Given the description of an element on the screen output the (x, y) to click on. 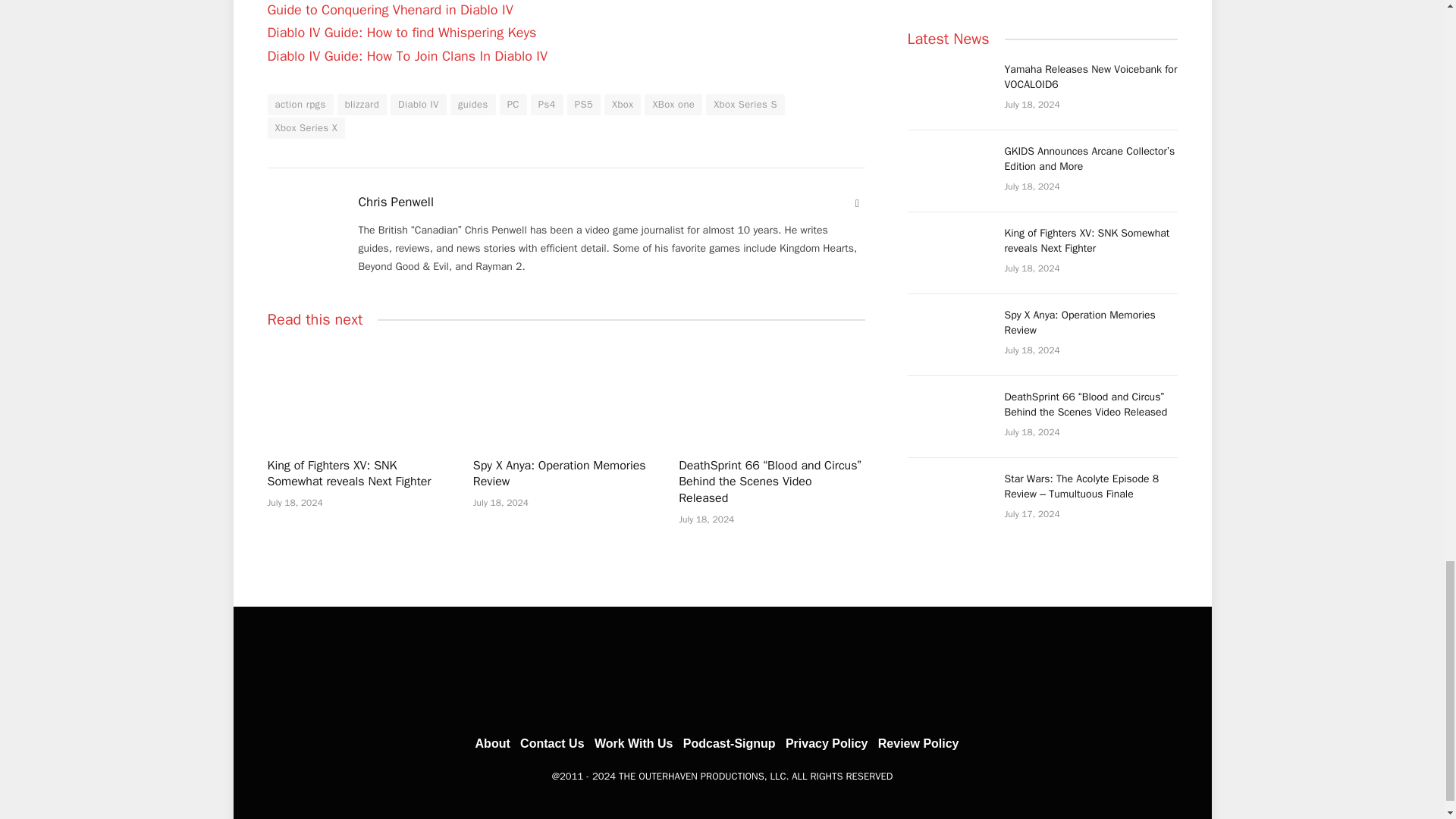
King of Fighters XV: SNK Somewhat reveals Next Fighter (359, 393)
Website (856, 203)
Posts by Chris Penwell (395, 201)
Spy X Anya: Operation Memories Review (566, 393)
